Given the description of an element on the screen output the (x, y) to click on. 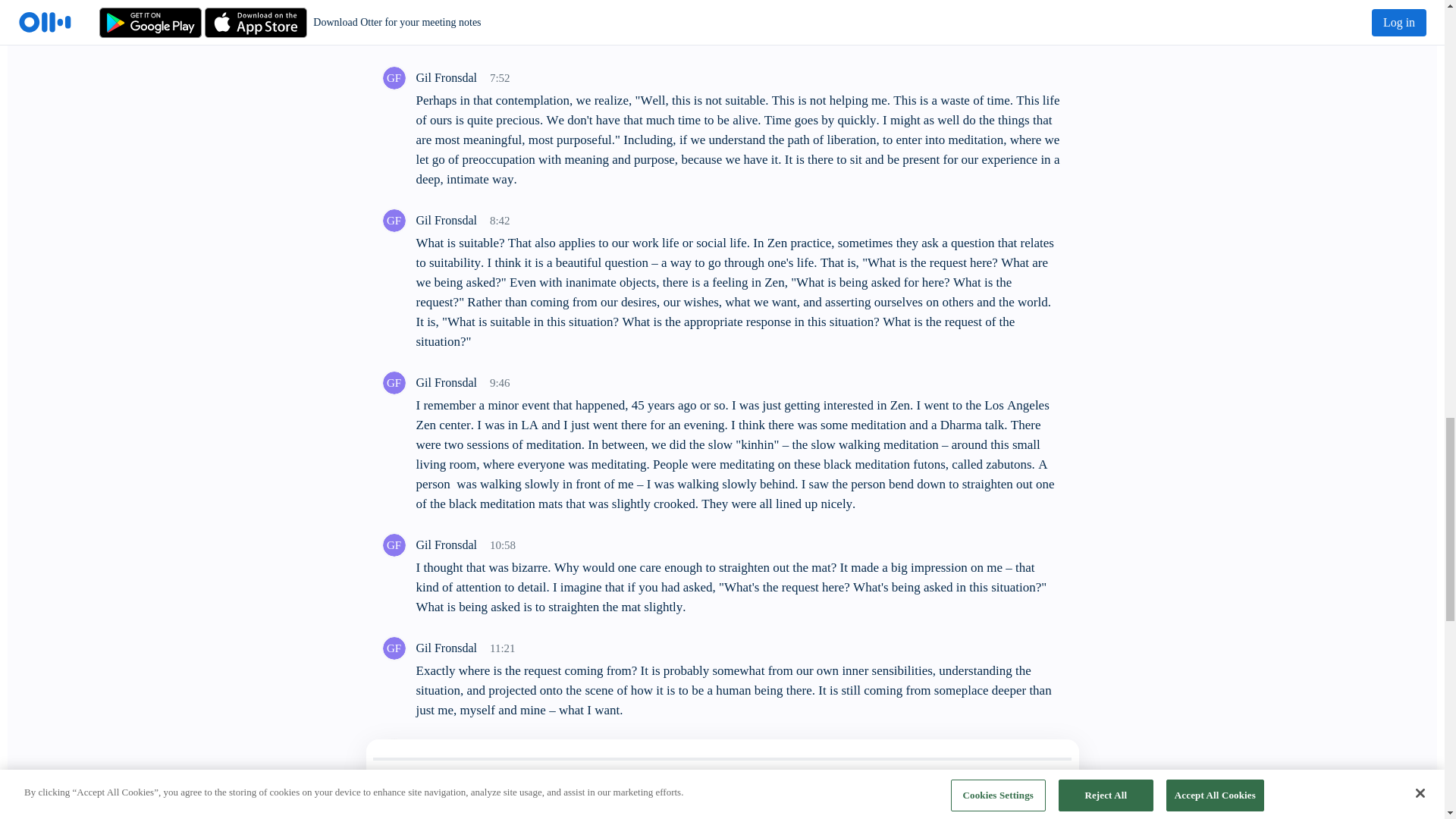
Gil Fronsdal (392, 77)
Gil Fronsdal (392, 382)
Gil Fronsdal (392, 220)
GF (393, 544)
Gil Fronsdal (392, 751)
Gil Fronsdal (392, 544)
Gil Fronsdal (392, 648)
GF (393, 220)
GF (393, 751)
GF (393, 647)
GF (393, 77)
GF (393, 382)
